Given the description of an element on the screen output the (x, y) to click on. 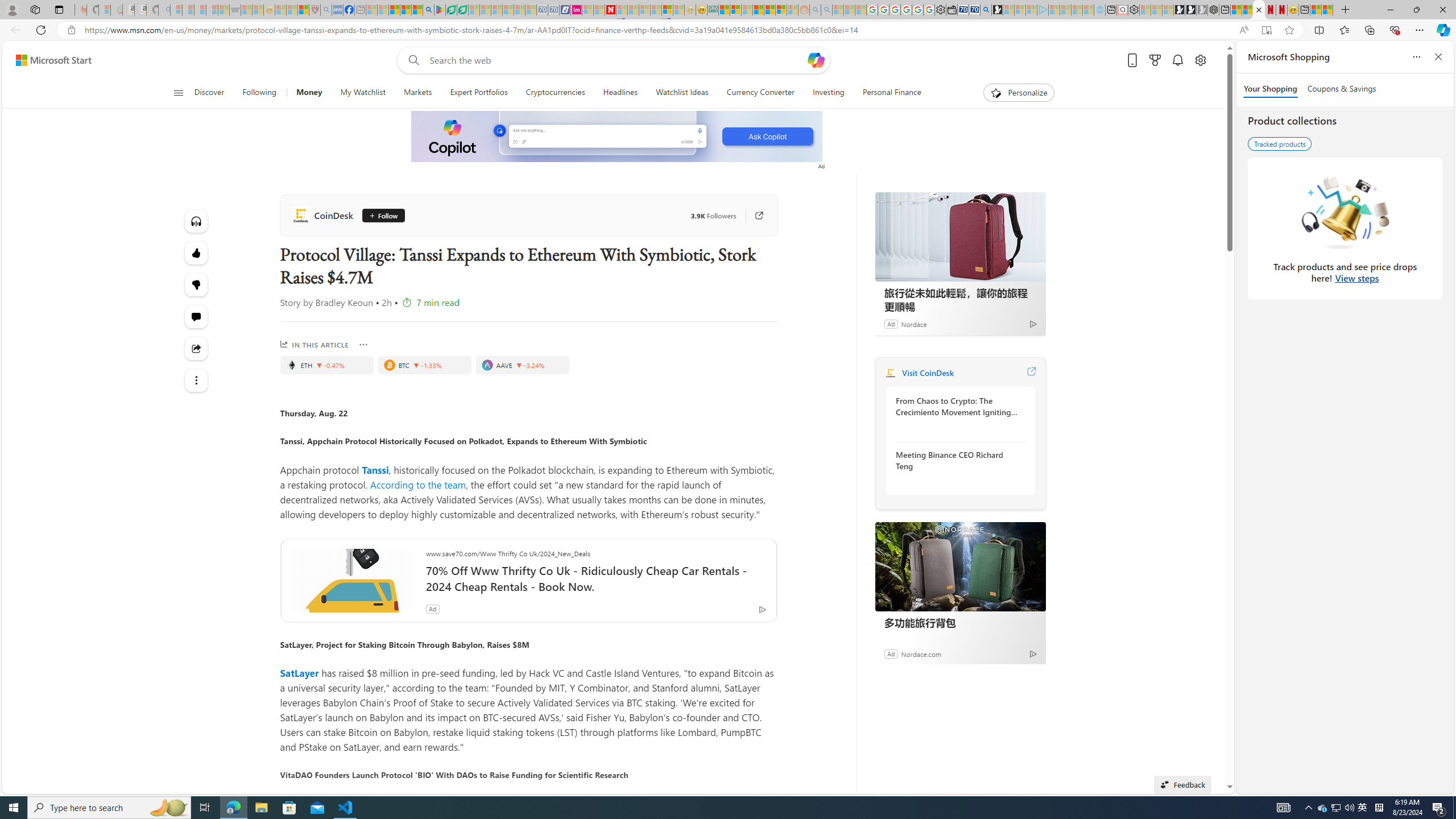
AAVE, Aave. Price is 136.20. Decreased by -3.24% (522, 365)
Personal Finance (887, 92)
Tanssi (374, 468)
